Given the description of an element on the screen output the (x, y) to click on. 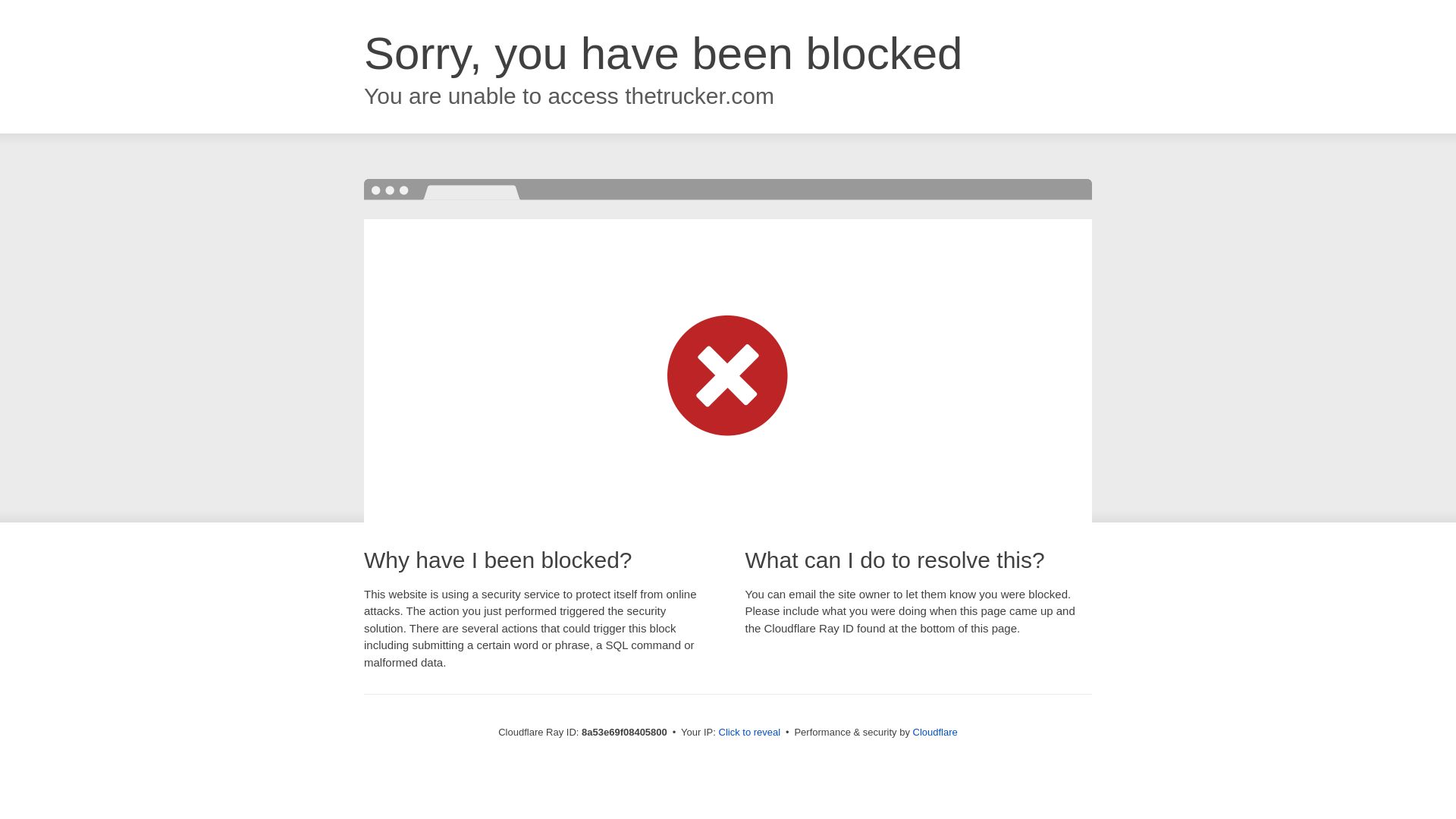
Click to reveal (749, 732)
Cloudflare (935, 731)
